Given the description of an element on the screen output the (x, y) to click on. 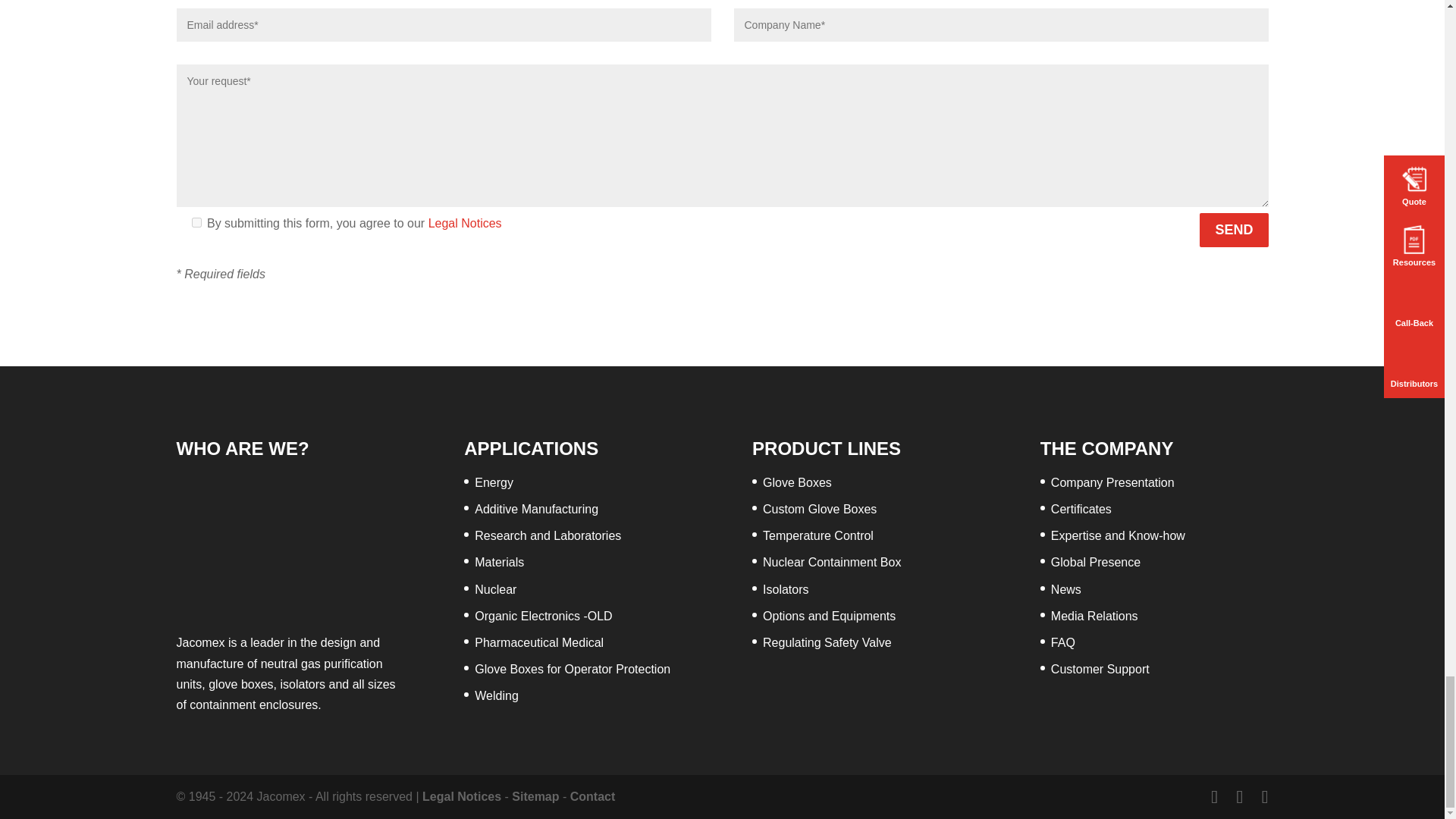
Send (1233, 229)
1 (195, 222)
